Given the description of an element on the screen output the (x, y) to click on. 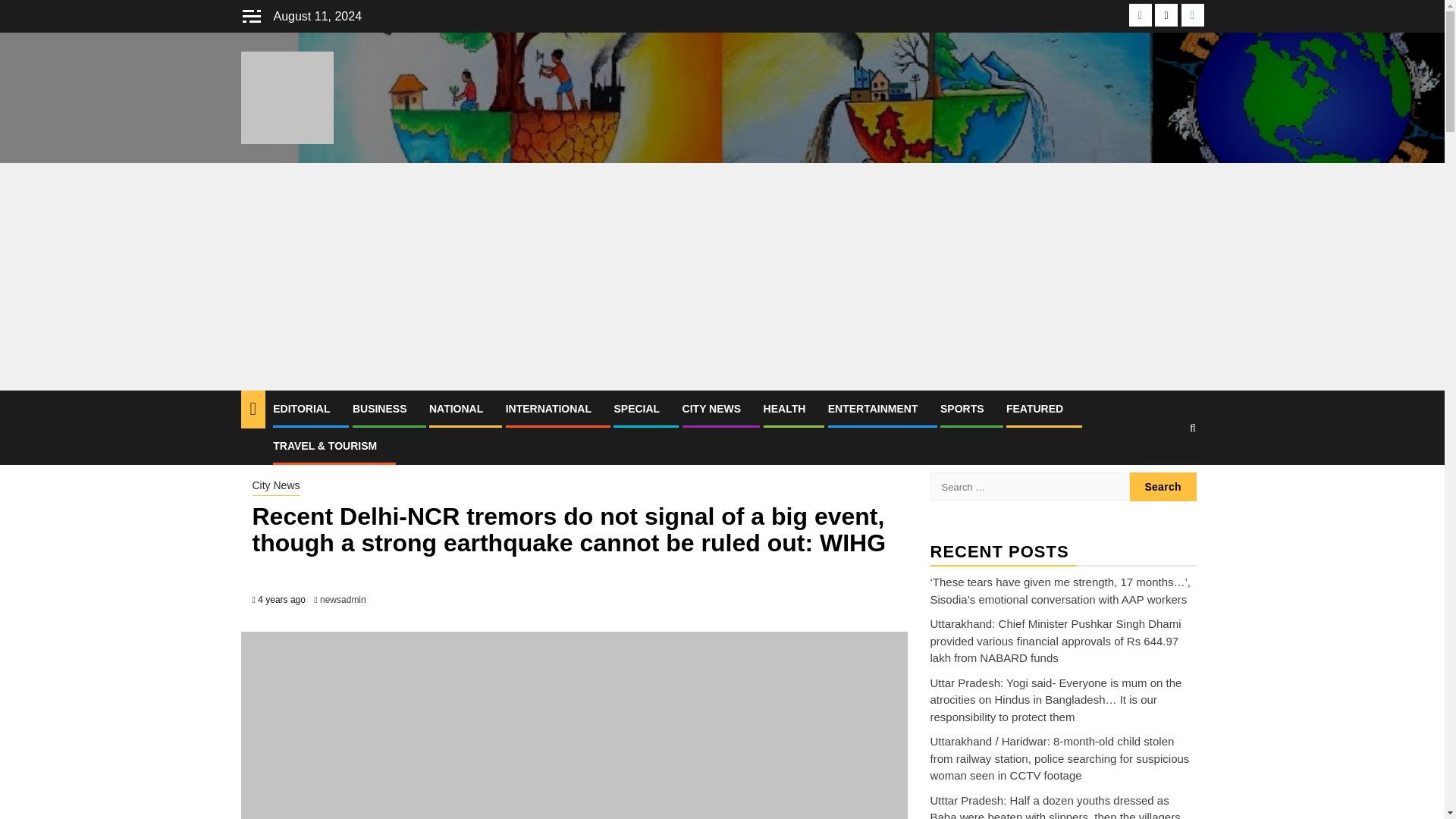
Instagram (1192, 15)
BUSINESS (379, 408)
EDITORIAL (301, 408)
ENTERTAINMENT (873, 408)
Search (1162, 486)
INTERNATIONAL (548, 408)
HEALTH (784, 408)
Facebook (1140, 15)
SPORTS (962, 408)
